Given the description of an element on the screen output the (x, y) to click on. 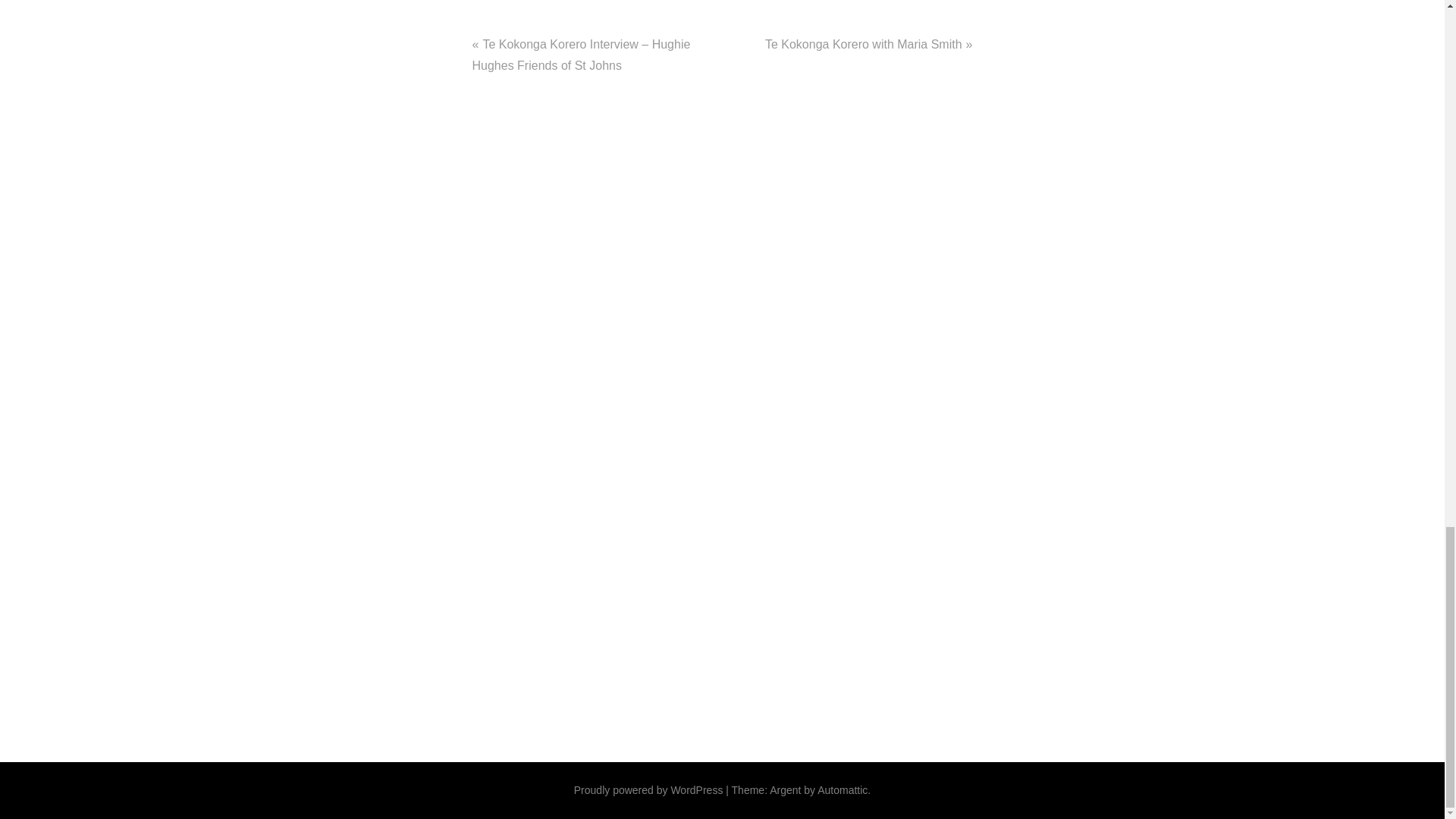
Automattic (841, 789)
Te Kokonga Korero with Maria Smith (863, 43)
Proudly powered by WordPress (648, 789)
